Given the description of an element on the screen output the (x, y) to click on. 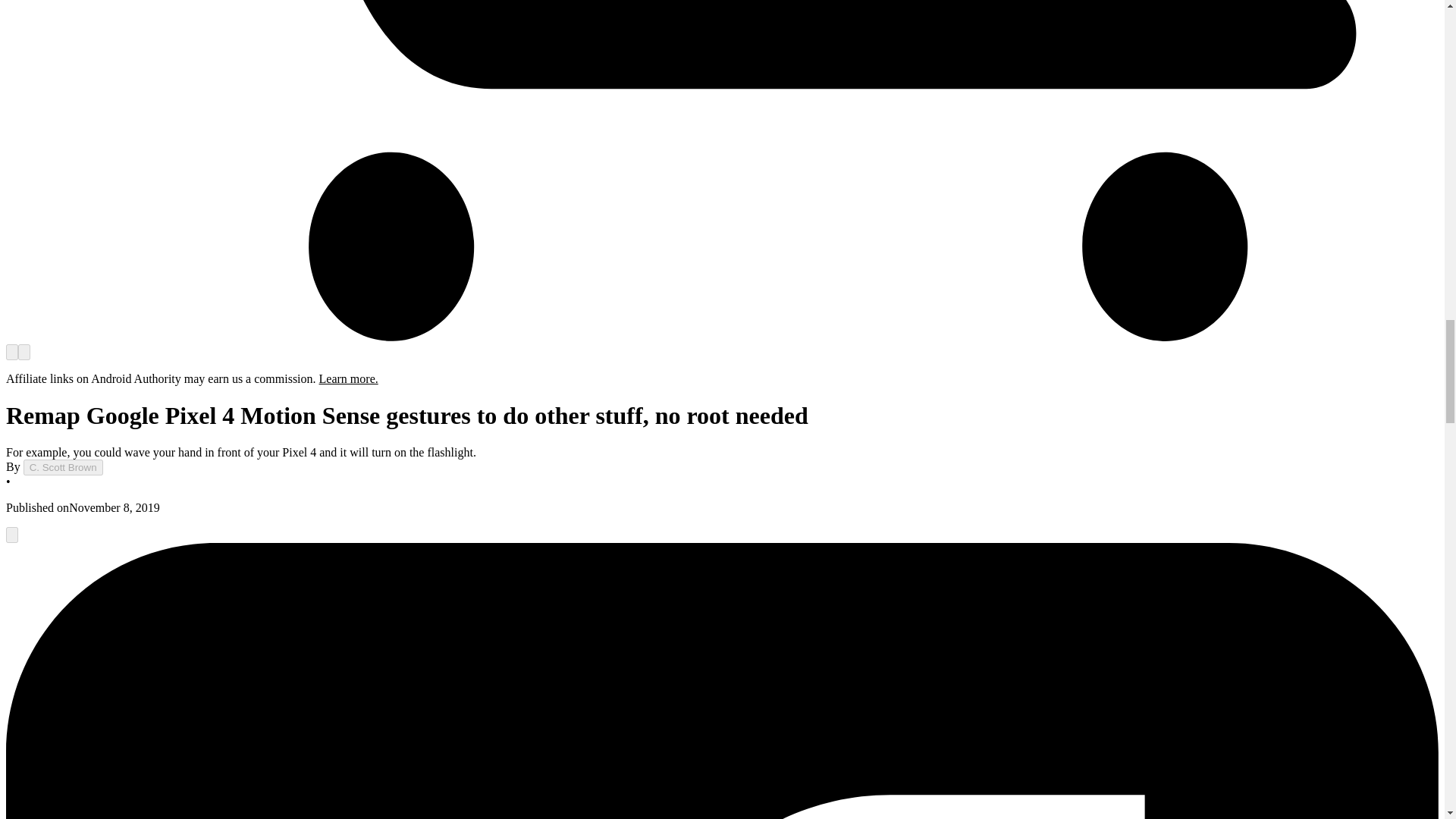
C. Scott Brown (63, 467)
Learn more. (348, 378)
